Given the description of an element on the screen output the (x, y) to click on. 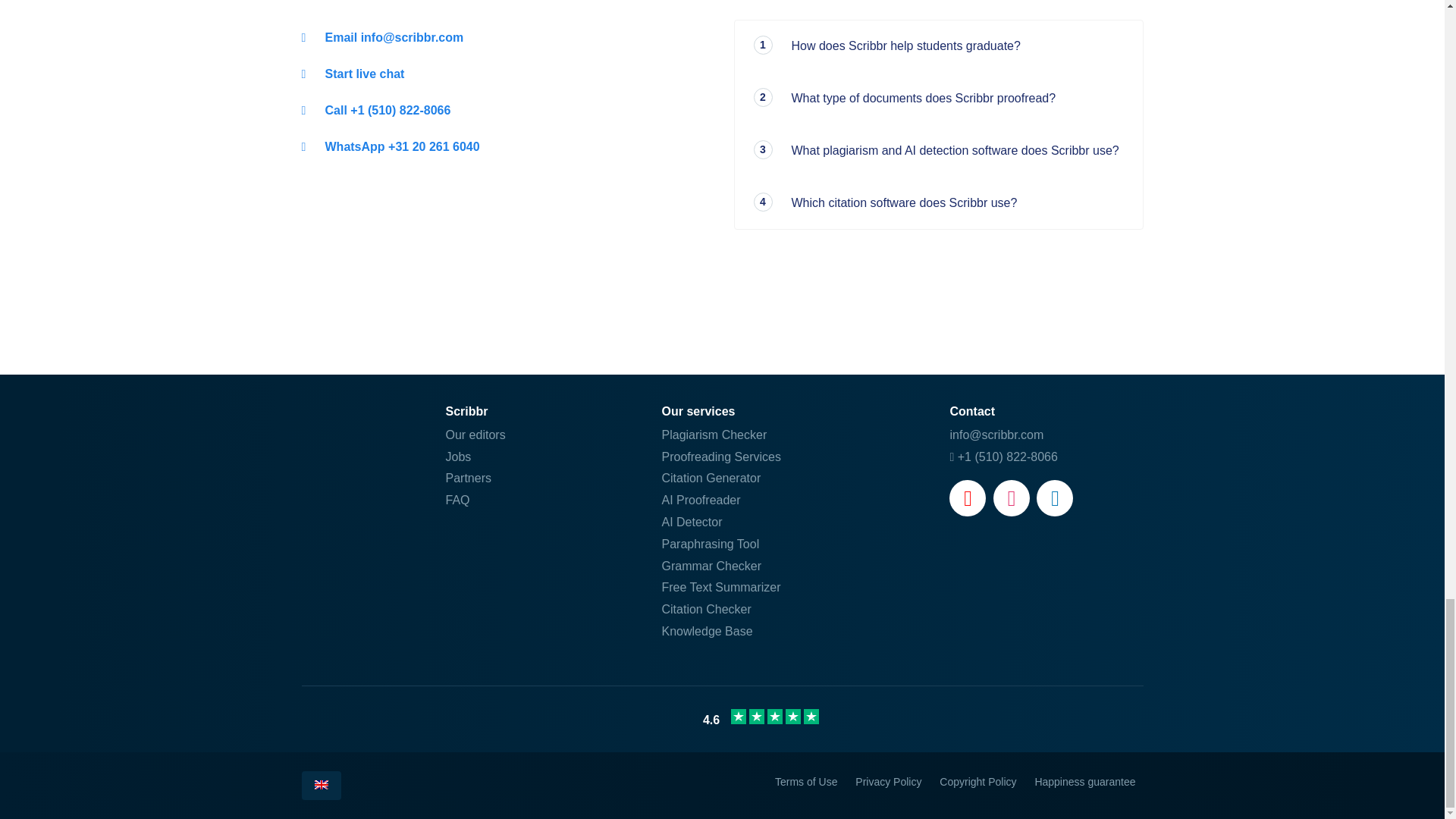
Check out all reviews for Scribbr (721, 719)
Change language (320, 785)
LinkedIn (1054, 497)
